Given the description of an element on the screen output the (x, y) to click on. 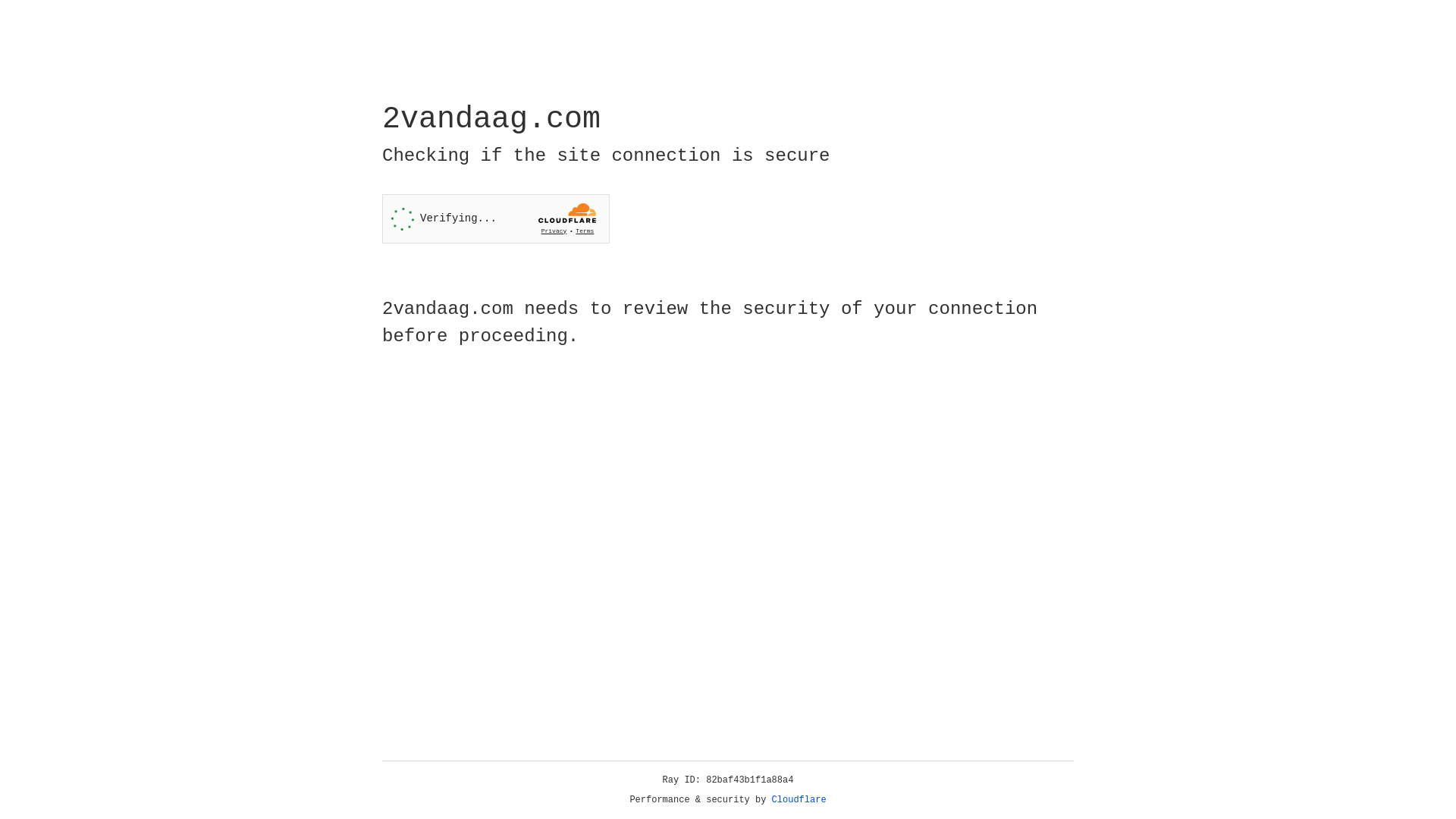
Widget containing a Cloudflare security challenge Element type: hover (495, 218)
Cloudflare Element type: text (798, 799)
